Given the description of an element on the screen output the (x, y) to click on. 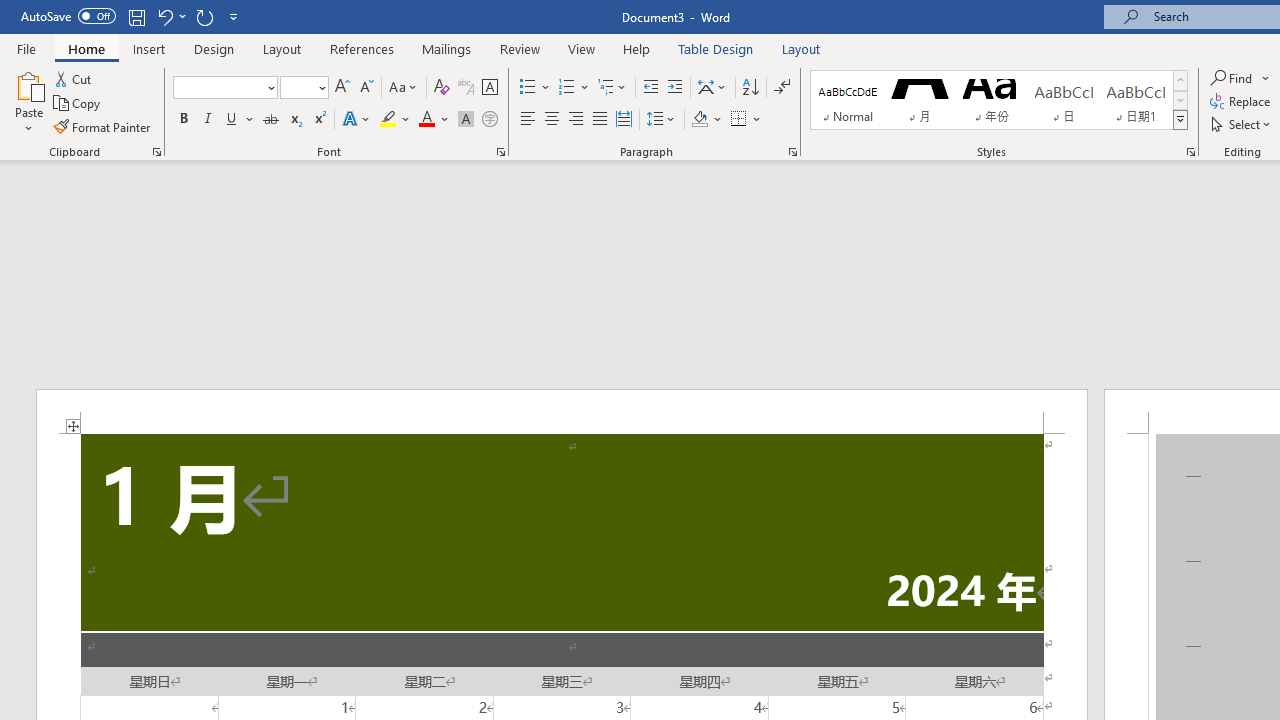
Styles... (1190, 151)
Table Design (715, 48)
Change Case (404, 87)
Cut (73, 78)
Strikethrough (270, 119)
Format Painter (103, 126)
Grow Font (342, 87)
Text Highlight Color (395, 119)
Paragraph... (792, 151)
